Given the description of an element on the screen output the (x, y) to click on. 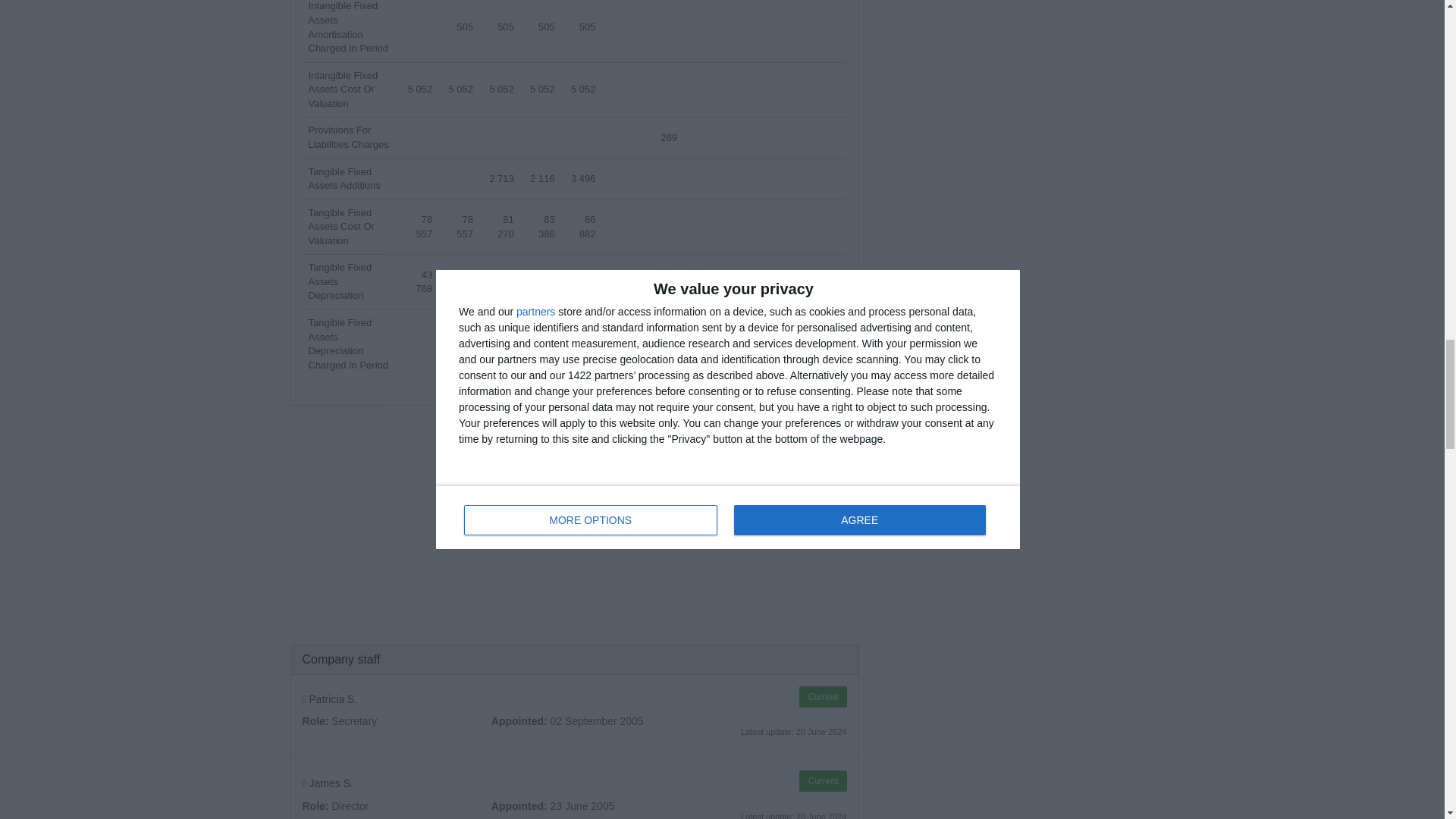
Current (822, 780)
Current (822, 696)
